Given the description of an element on the screen output the (x, y) to click on. 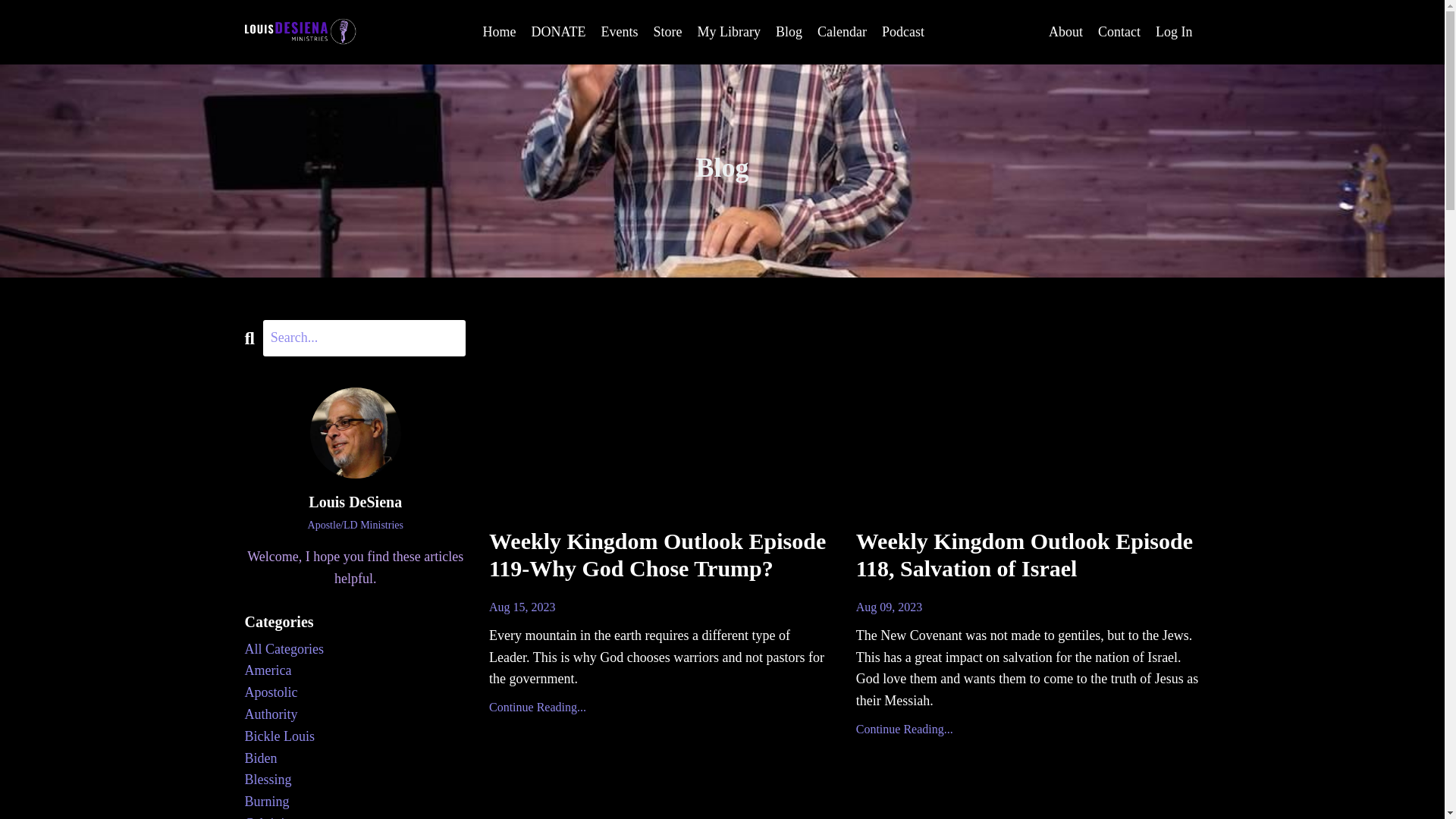
My Library (728, 32)
Store (667, 32)
DONATE (558, 32)
Log In (1174, 31)
Continue Reading... (1027, 729)
Blog (789, 32)
Calendar (841, 32)
Podcast (903, 32)
Continue Reading... (660, 707)
About (1065, 32)
